Given the description of an element on the screen output the (x, y) to click on. 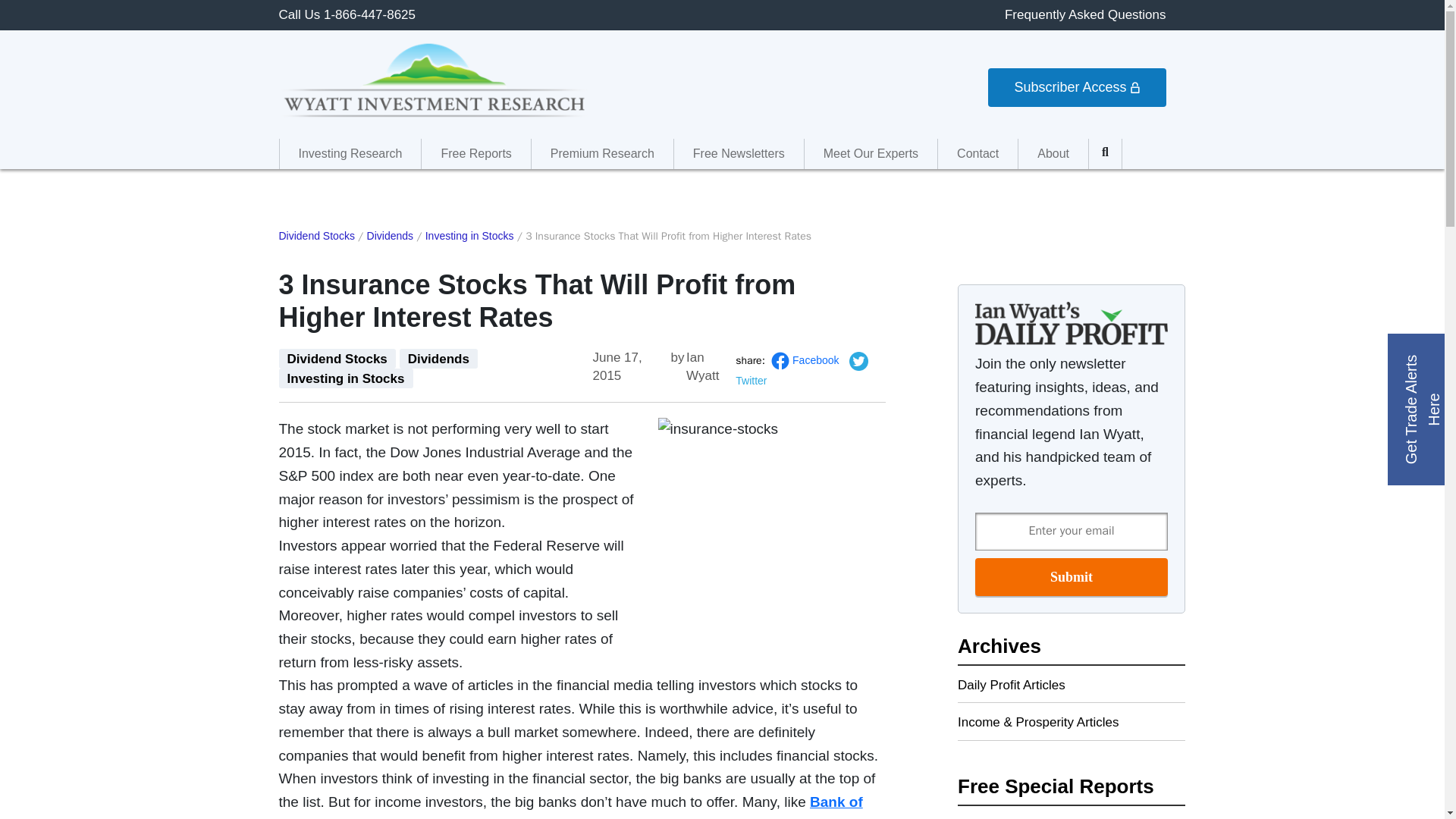
About (1052, 153)
Dividend Stocks (337, 358)
Meet Our Experts (870, 153)
Twitter (801, 369)
Free Reports (474, 153)
Subscriber Access (1077, 87)
Investing in Stocks (469, 236)
twitter sharing button (857, 361)
Contact (977, 153)
Call Us 1-866-447-8625 (347, 14)
Free Newsletters (738, 153)
Dividends (389, 236)
Investing in Stocks (346, 378)
Click to share this post on Twitter (801, 369)
